Given the description of an element on the screen output the (x, y) to click on. 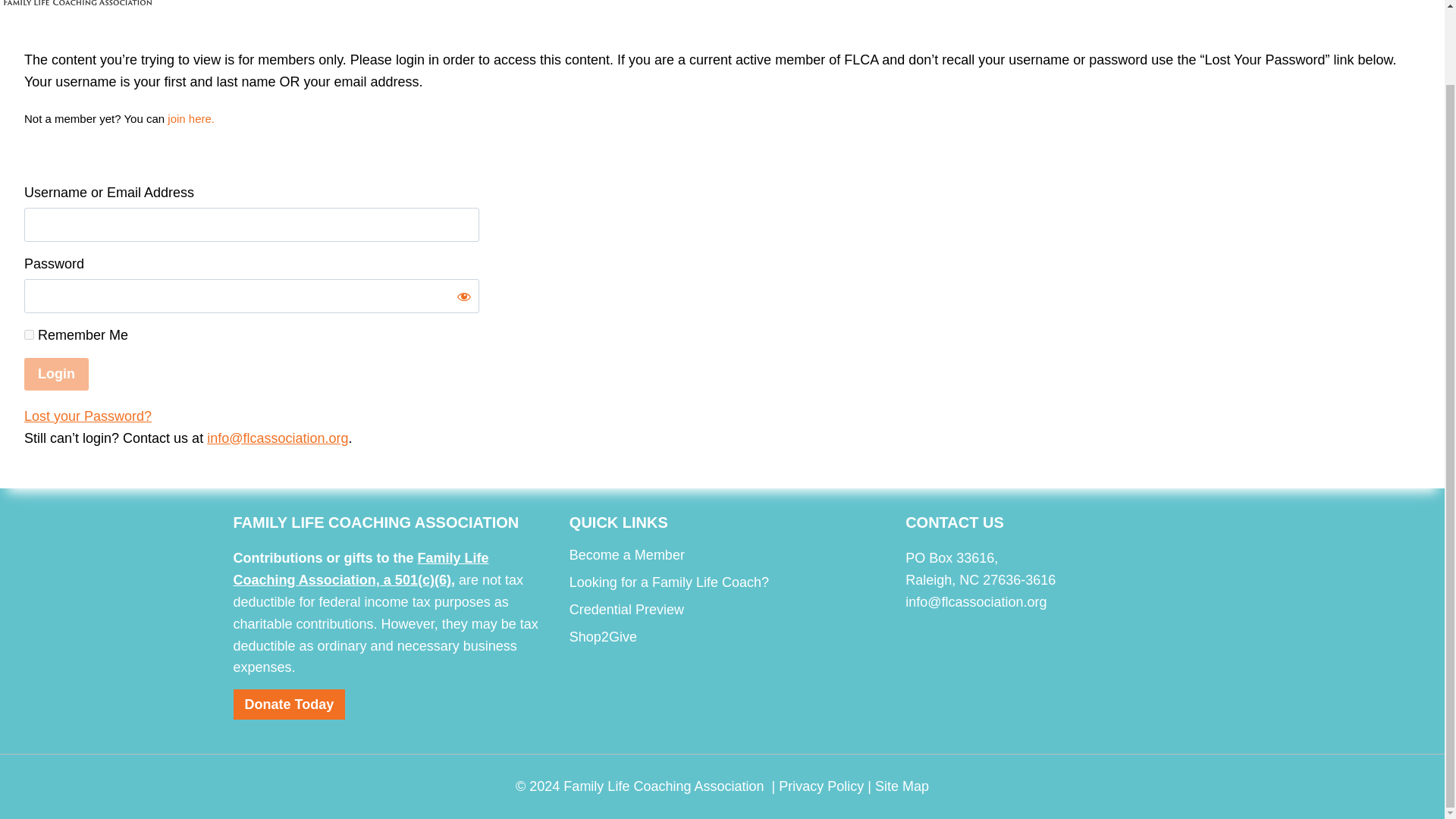
Login (56, 373)
forever (28, 334)
